Given the description of an element on the screen output the (x, y) to click on. 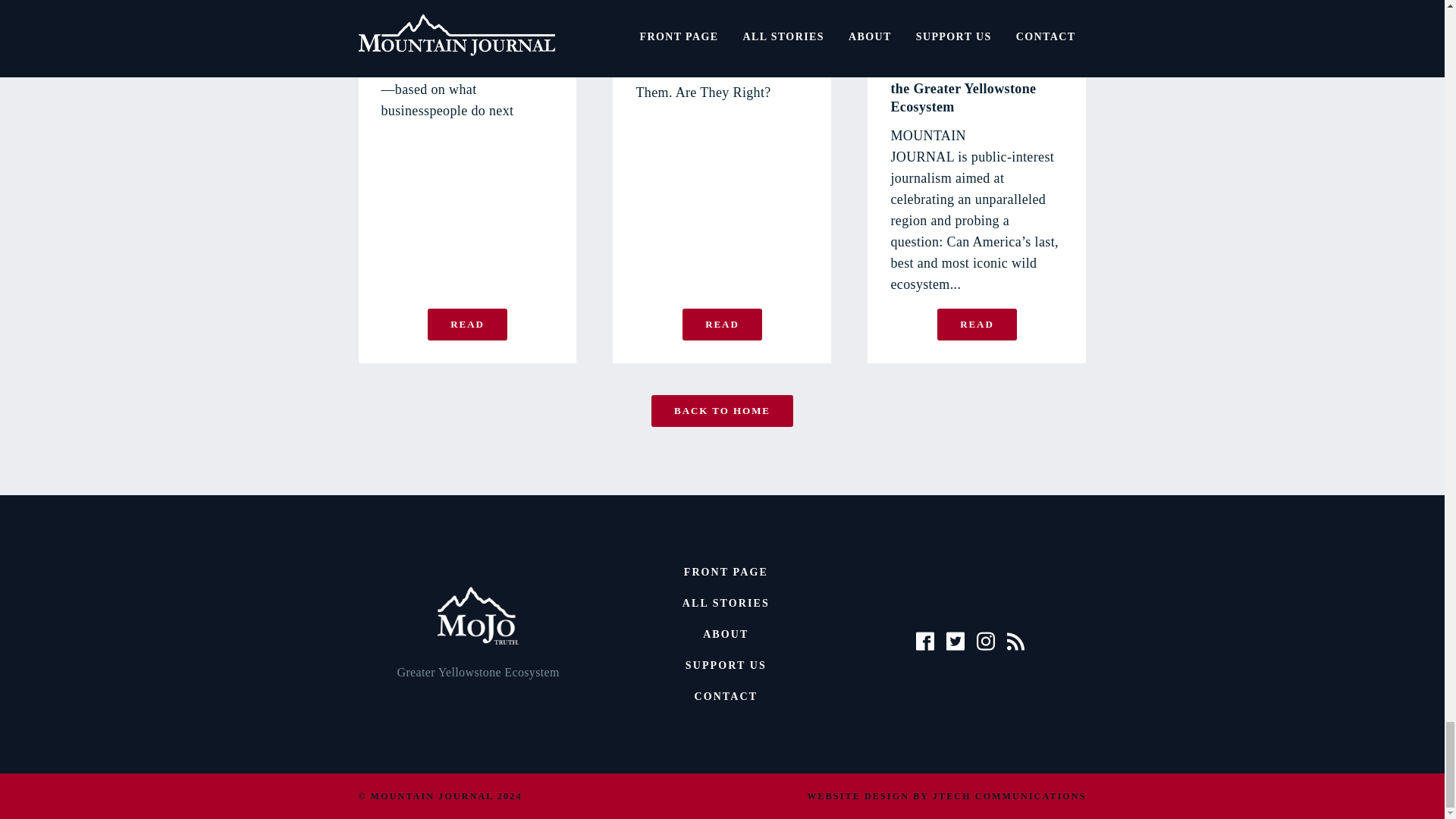
RSS Feed (1016, 641)
